Given the description of an element on the screen output the (x, y) to click on. 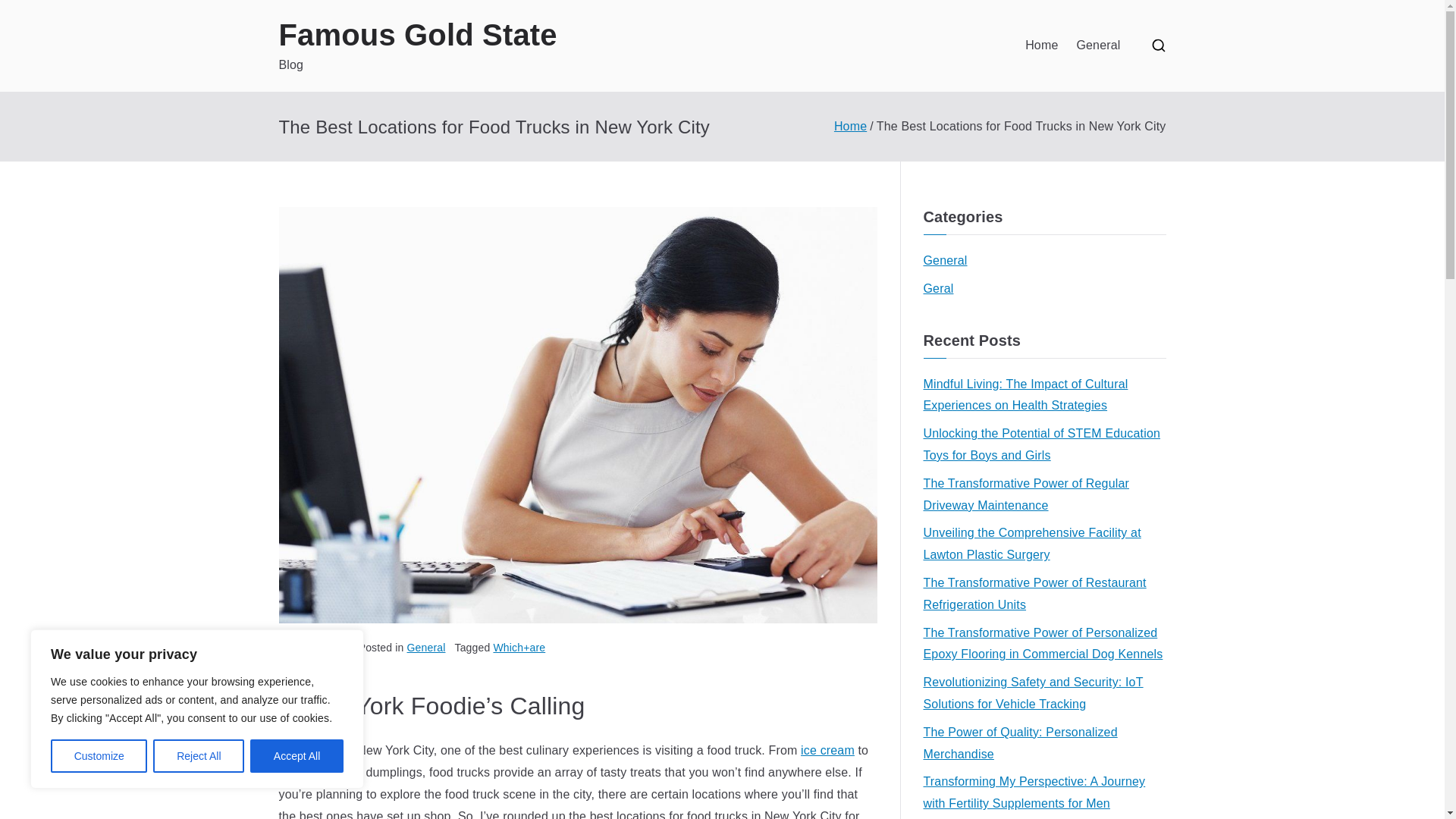
ice cream (827, 749)
Accept All (296, 756)
Home (1041, 45)
General (1097, 45)
Home (850, 125)
General (945, 260)
Famous Gold State (418, 34)
Geral (938, 289)
Reject All (198, 756)
Customize (98, 756)
General (426, 647)
